Given the description of an element on the screen output the (x, y) to click on. 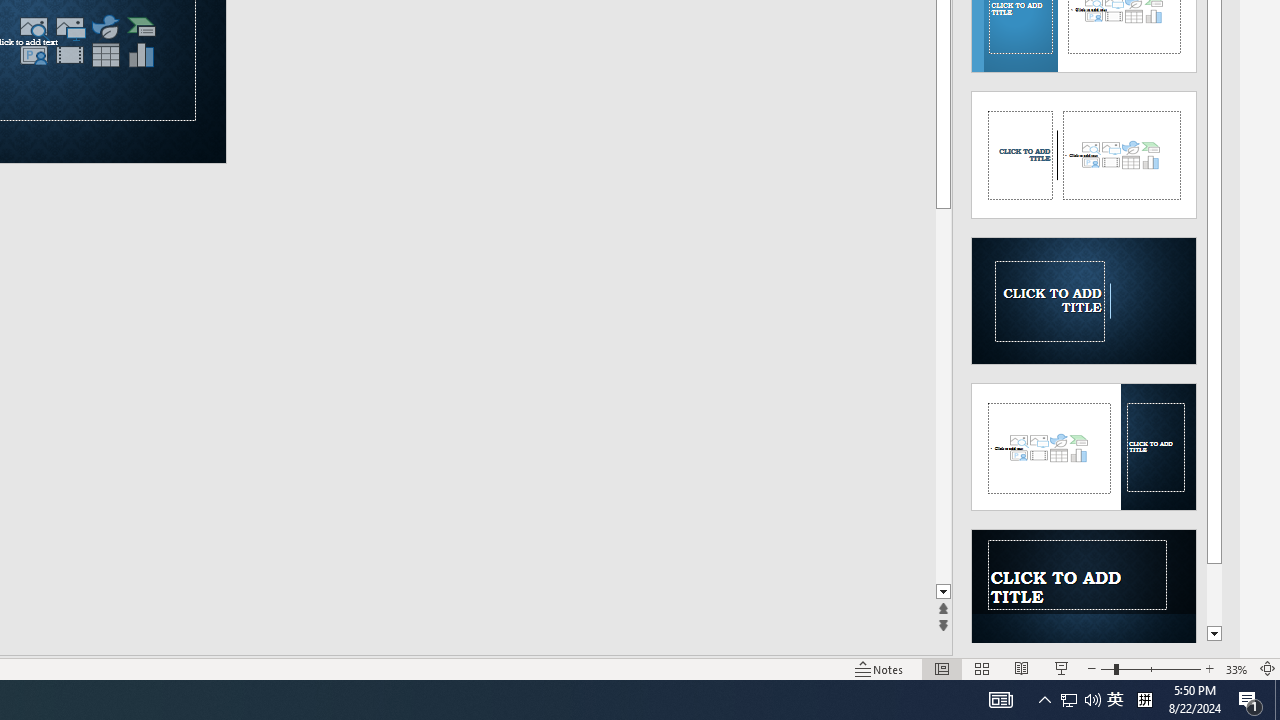
Insert Table (105, 55)
Insert Chart (141, 55)
Insert a SmartArt Graphic (141, 26)
